Given the description of an element on the screen output the (x, y) to click on. 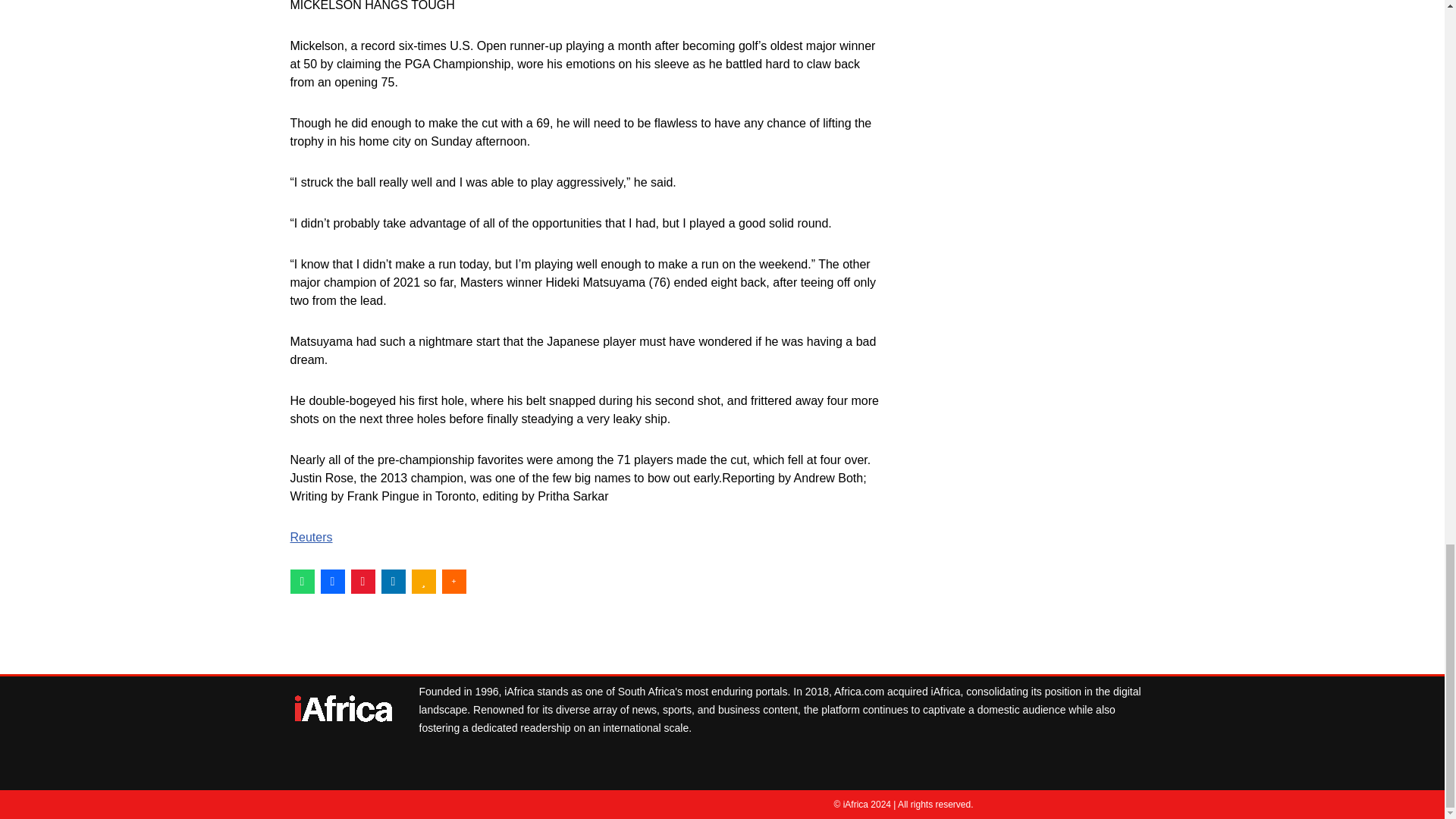
More share links (453, 581)
Convert to PDF (362, 581)
WhatsApp (301, 581)
Reuters (310, 536)
Share this on Facebook (331, 581)
Add to favorites (422, 581)
Add this to LinkedIn (392, 581)
